Given the description of an element on the screen output the (x, y) to click on. 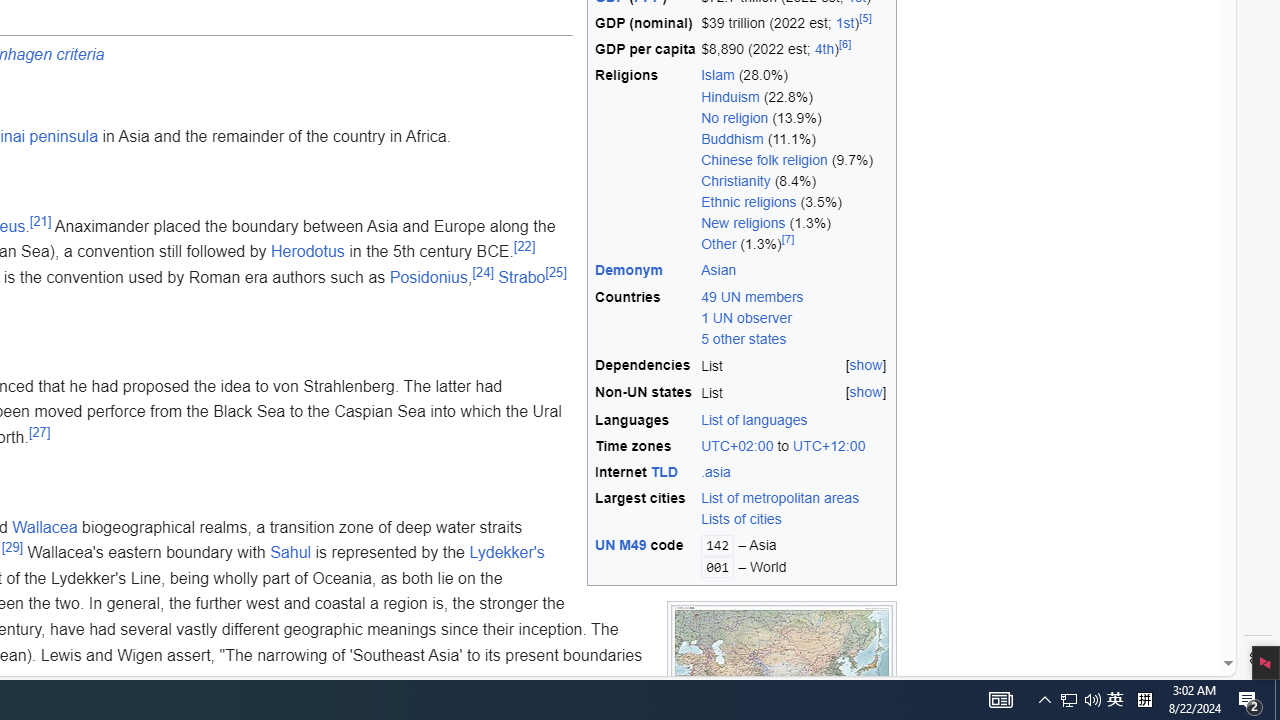
[29] (12, 547)
Demonym (645, 270)
UN M49 (620, 545)
No religion (735, 116)
$8,890 (2022 est; 4th)[6] (795, 49)
[27] (39, 431)
GDP (nominal) (645, 24)
List of metropolitan areas (780, 498)
Asian (795, 270)
Christianity (735, 181)
Other (719, 244)
[7] (787, 239)
Countries (645, 318)
Chinese folk religion (9.7%) (795, 160)
